Given the description of an element on the screen output the (x, y) to click on. 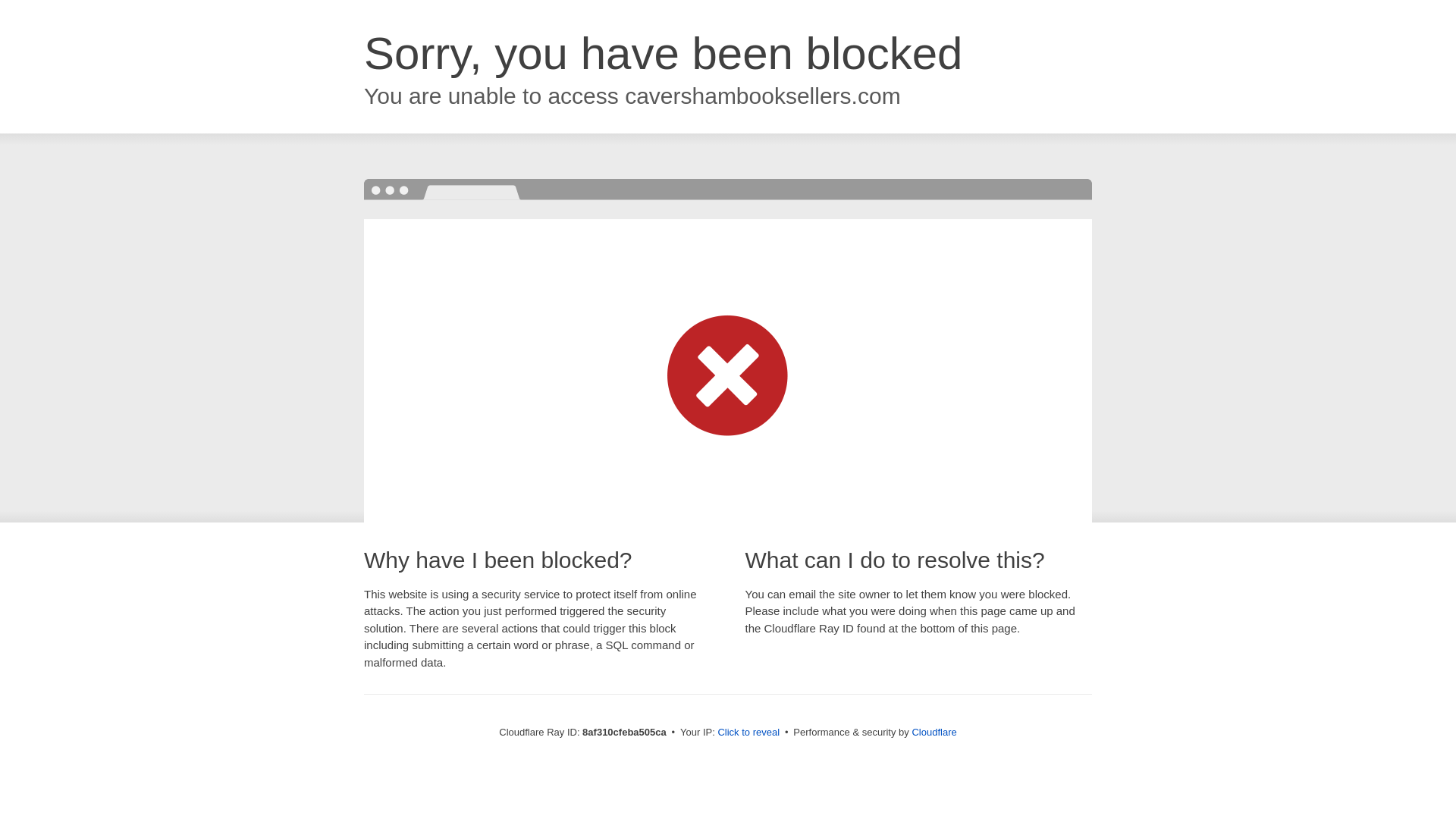
Cloudflare (933, 731)
Click to reveal (747, 732)
